Given the description of an element on the screen output the (x, y) to click on. 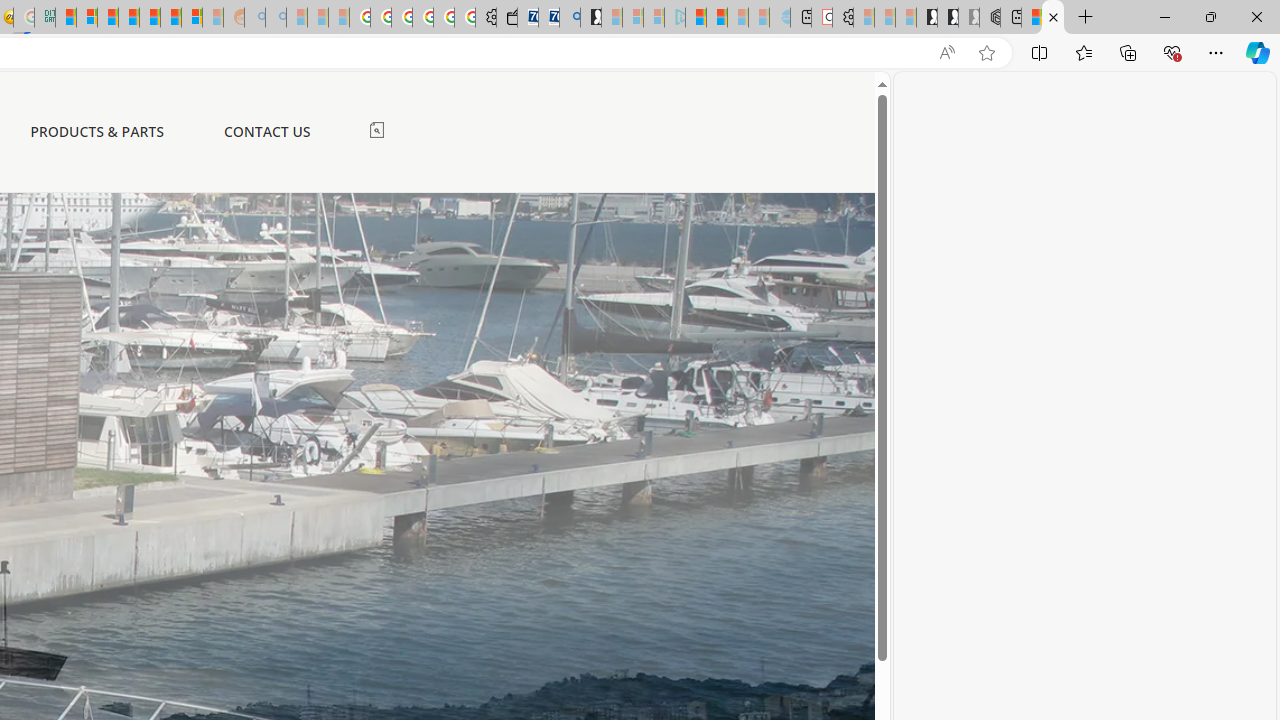
Student Loan Update: Forgiveness Program Ends This Month (129, 17)
